Given the description of an element on the screen output the (x, y) to click on. 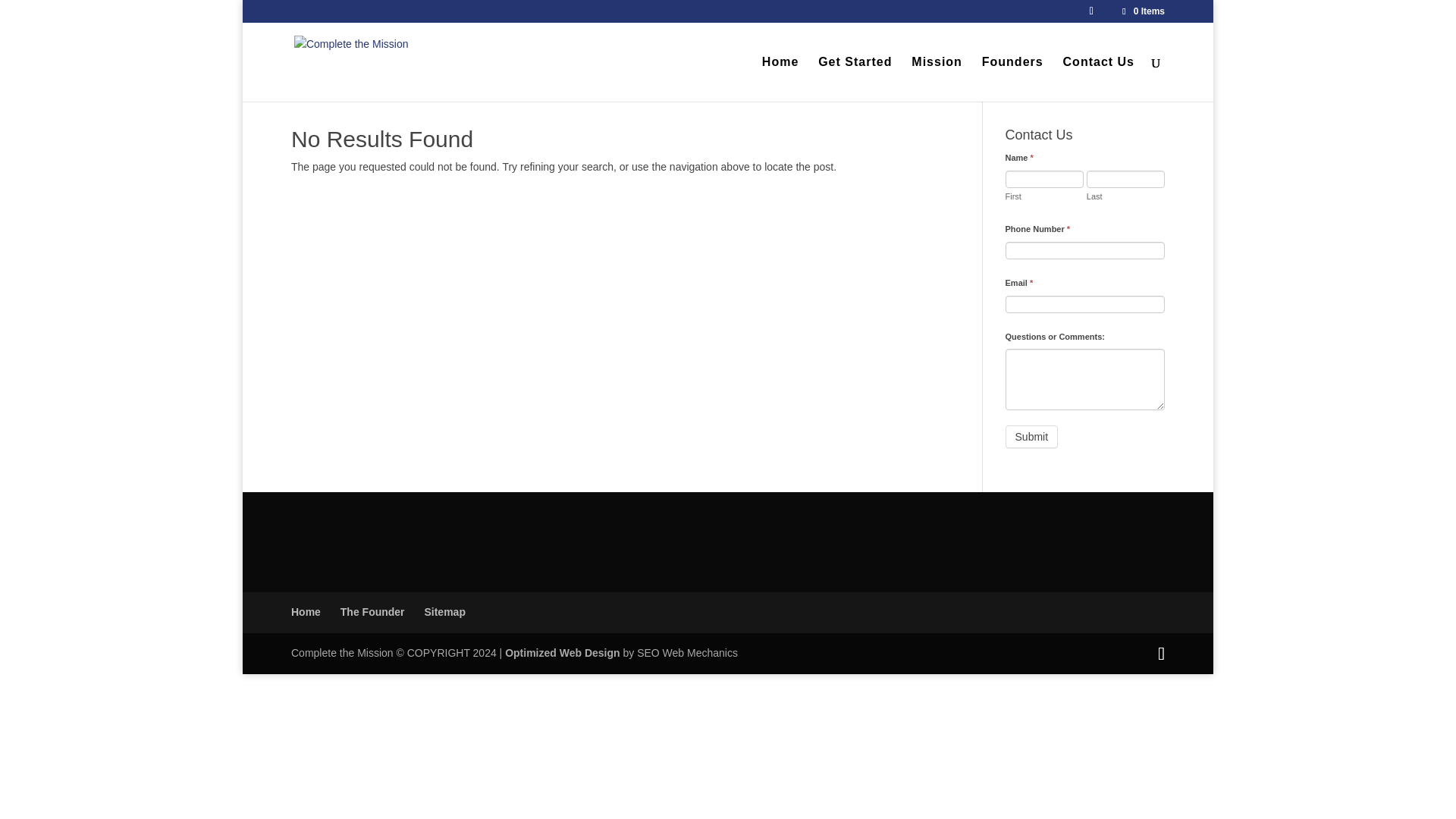
Submit (1032, 436)
Optimized Web Design (562, 653)
The Founder (372, 612)
Founders (1012, 78)
0 Items (1141, 10)
Mission (936, 78)
Sitemap (443, 612)
Submit (1032, 436)
Contact Us (1098, 78)
Get Started (854, 78)
Home (305, 612)
